Given the description of an element on the screen output the (x, y) to click on. 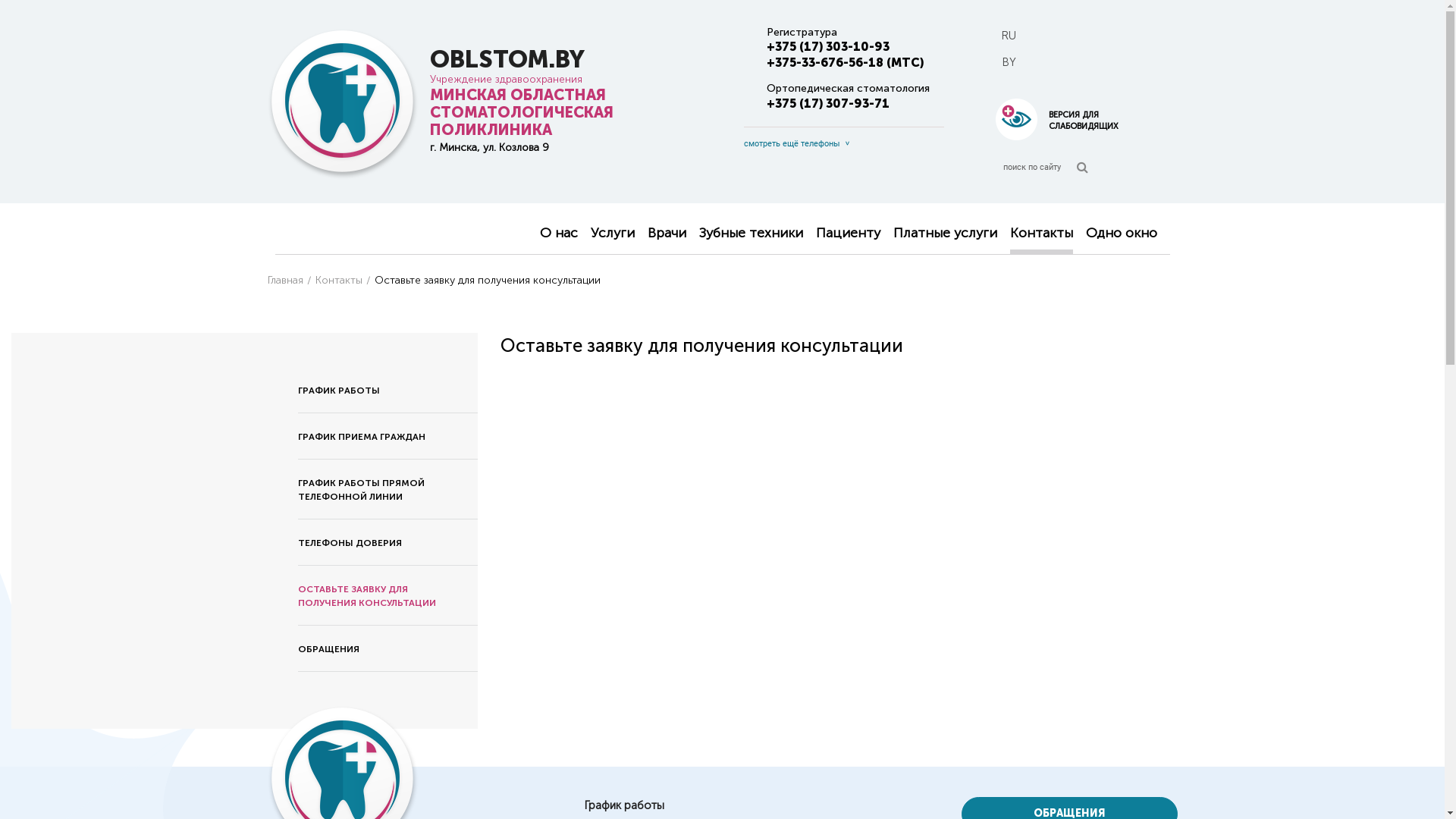
BY Element type: text (1007, 62)
+375 (17) 307-93-71 Element type: text (826, 103)
+375 (17) 303-10-93 Element type: text (826, 46)
RU Element type: text (1007, 35)
